Given the description of an element on the screen output the (x, y) to click on. 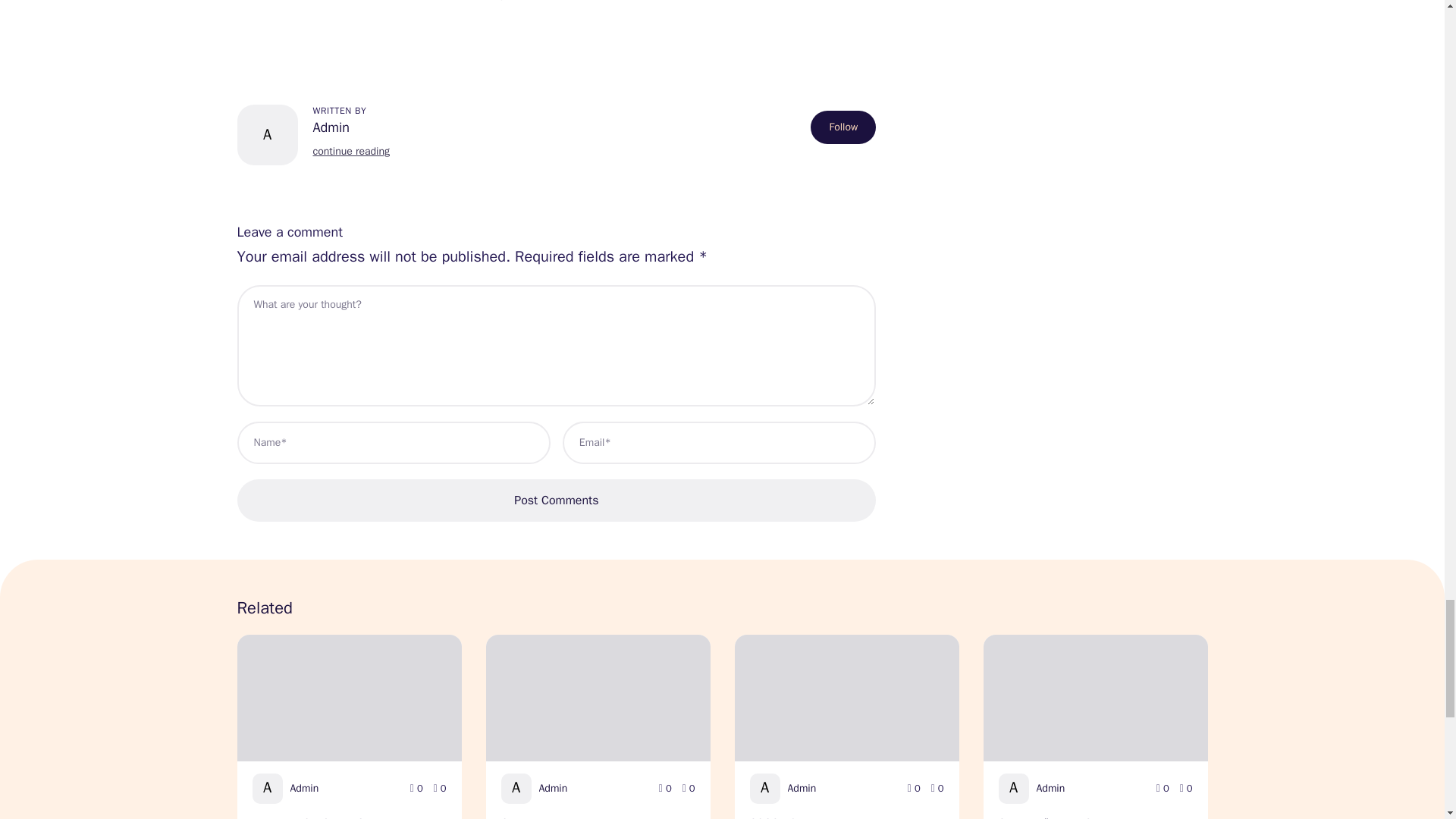
Admin (350, 127)
continue reading (350, 151)
Follow (843, 127)
Post Comments (555, 500)
